Given the description of an element on the screen output the (x, y) to click on. 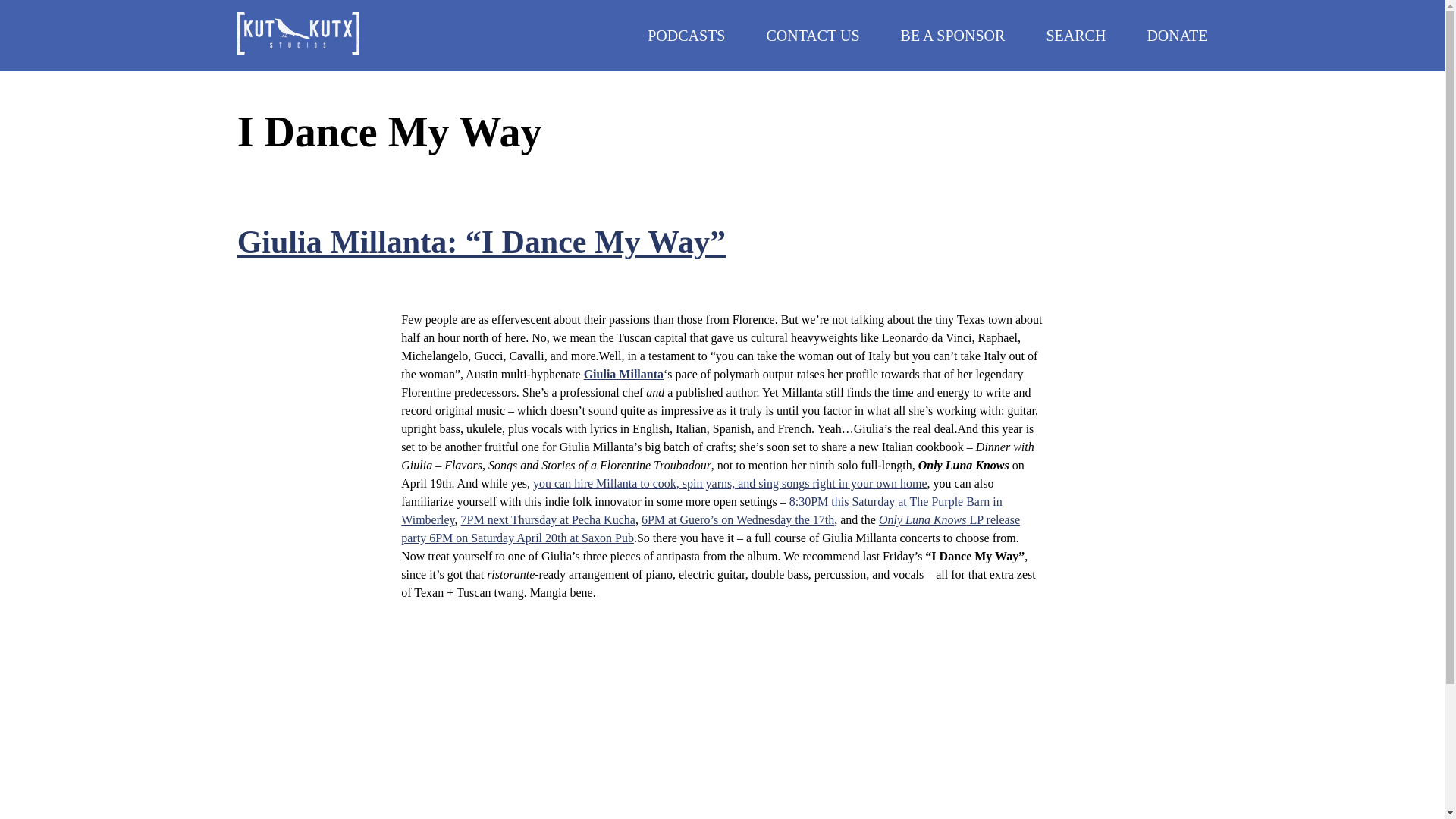
BE A SPONSOR (953, 35)
CONTACT US (812, 35)
8:30PM this Saturday at The Purple Barn in Wimberley (701, 510)
PODCASTS (686, 35)
SEARCH (1075, 35)
DONATE (1177, 35)
Giulia Millanta (623, 373)
7PM next Thursday at Pecha Kucha (547, 519)
